Given the description of an element on the screen output the (x, y) to click on. 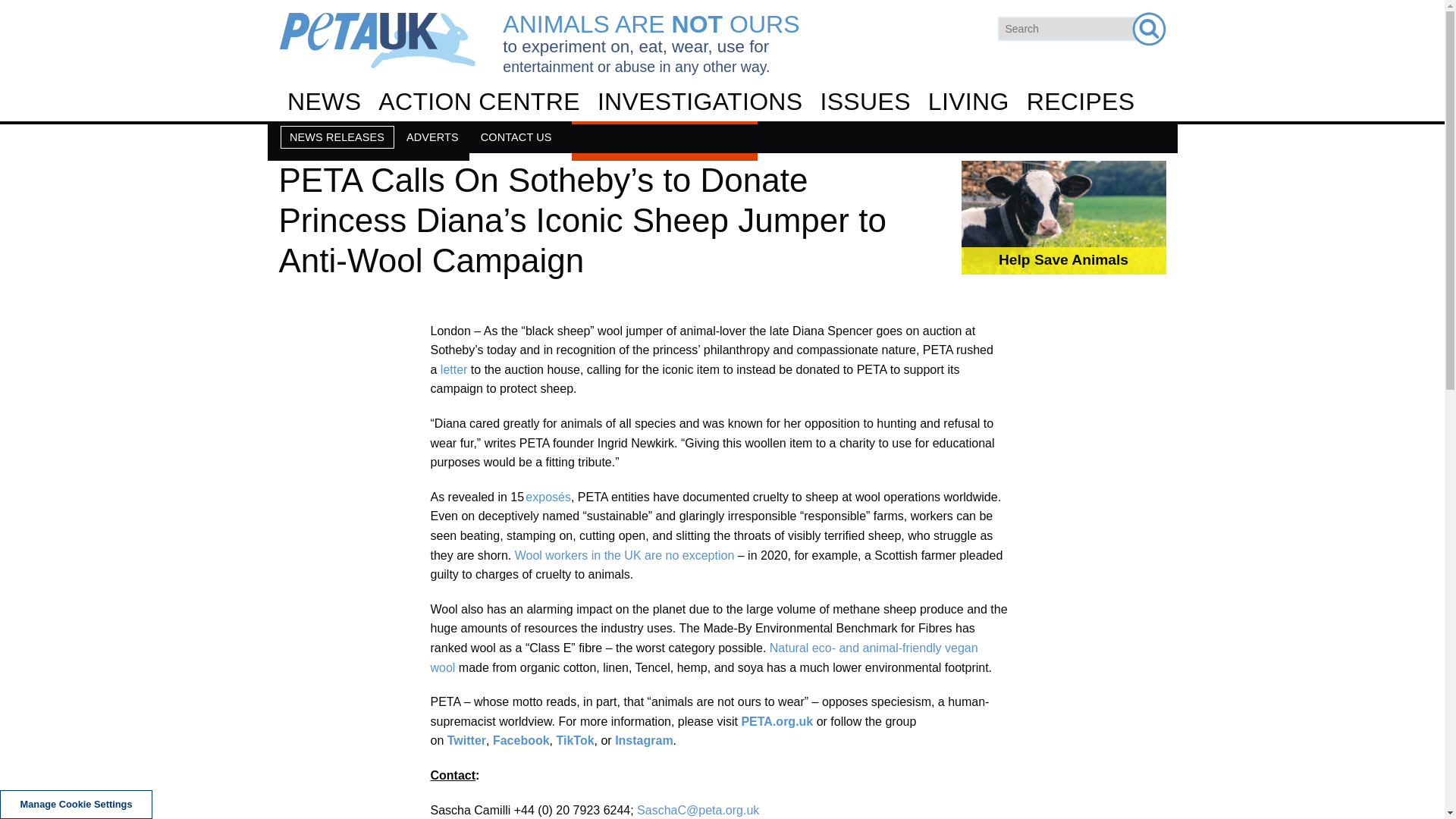
NEWS (324, 101)
CHEMICAL TESTING (728, 192)
MEDICAL EXPERIMENTS (721, 271)
WEAR (721, 265)
COSMETICS TESTING (721, 231)
ACTIVIST RESOURCES (721, 225)
USE FOR ENTERTAINMENT (721, 304)
Submit (1148, 28)
ACTION CENTRE (479, 101)
NON-ANIMAL METHODS (721, 350)
ANIMALS IN EDUCATION AND TRAINING (721, 310)
INVESTIGATIONS (699, 101)
Submit (1148, 28)
ISSUES (864, 101)
PETA UK (378, 40)
